Given the description of an element on the screen output the (x, y) to click on. 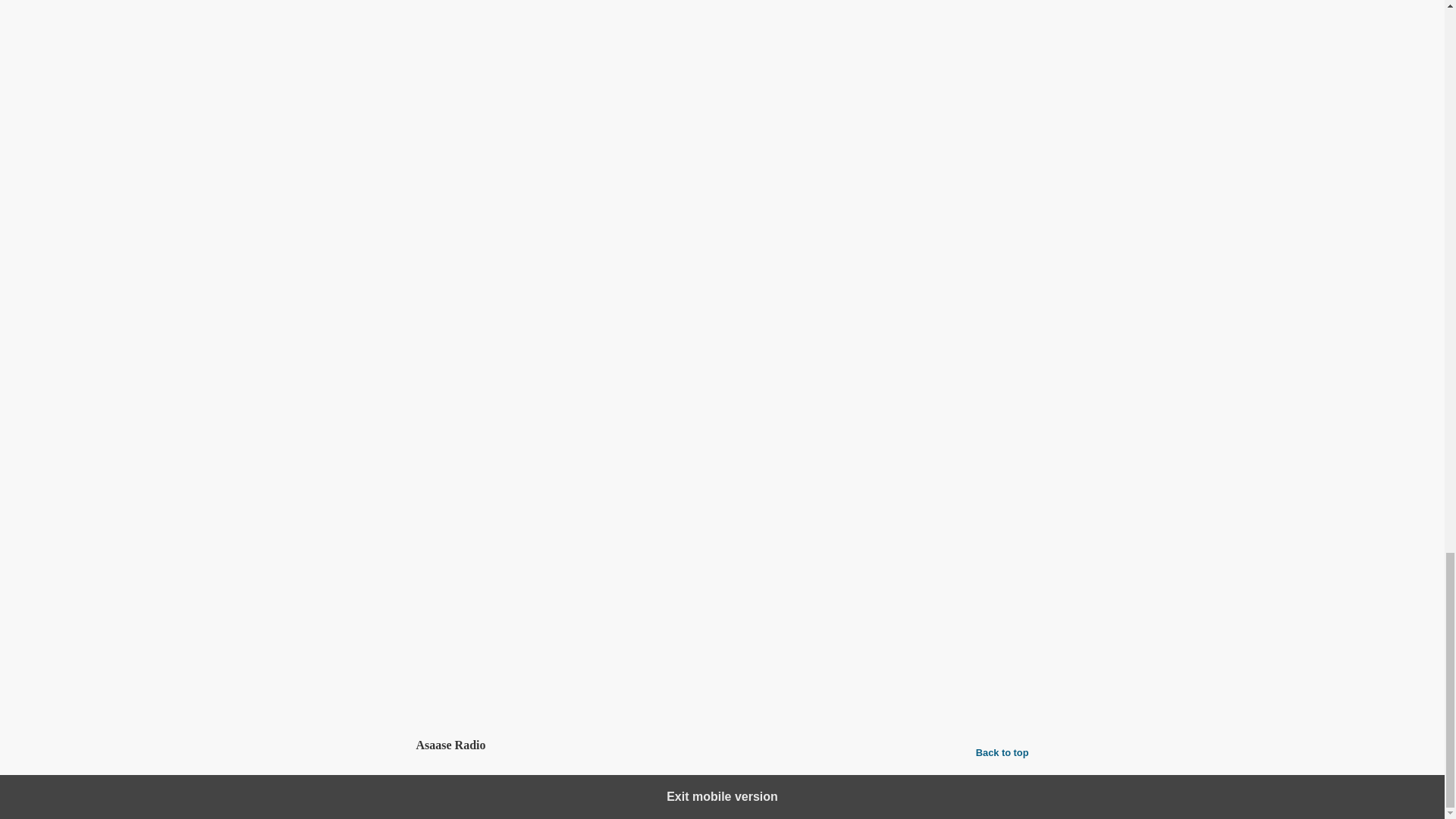
Sir Garnet Wolseley War (540, 694)
KNUST (686, 678)
online (537, 463)
Editors-Pick (635, 678)
Asaase Radio 99.5 (460, 399)
Education (536, 646)
Otumfuo Hiahene (979, 678)
Back to top (1002, 752)
Asantehene Otumfuo Osei Tutu II (522, 678)
Culture (489, 646)
AsaaseXtra (752, 505)
Sagrenti War (445, 694)
News (579, 646)
asaaseradio.com (601, 463)
Nana Prof Oheneba Boachie Agyei Woahene II (820, 678)
